Given the description of an element on the screen output the (x, y) to click on. 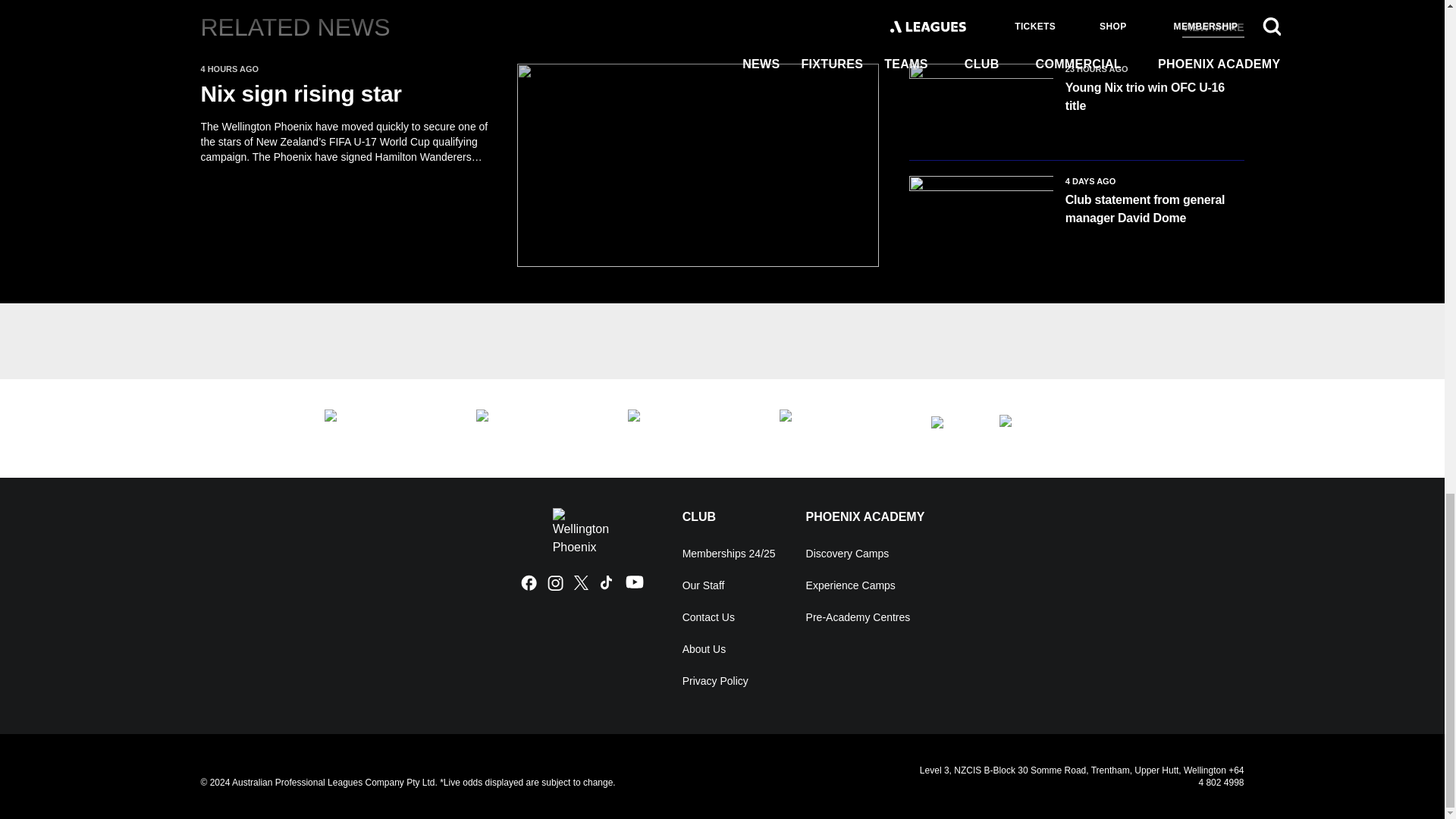
Gazley (839, 428)
Spark (688, 428)
NZCIS (384, 428)
Chemist Warehouse (536, 428)
Paladin (950, 428)
OPPO (1059, 428)
